Given the description of an element on the screen output the (x, y) to click on. 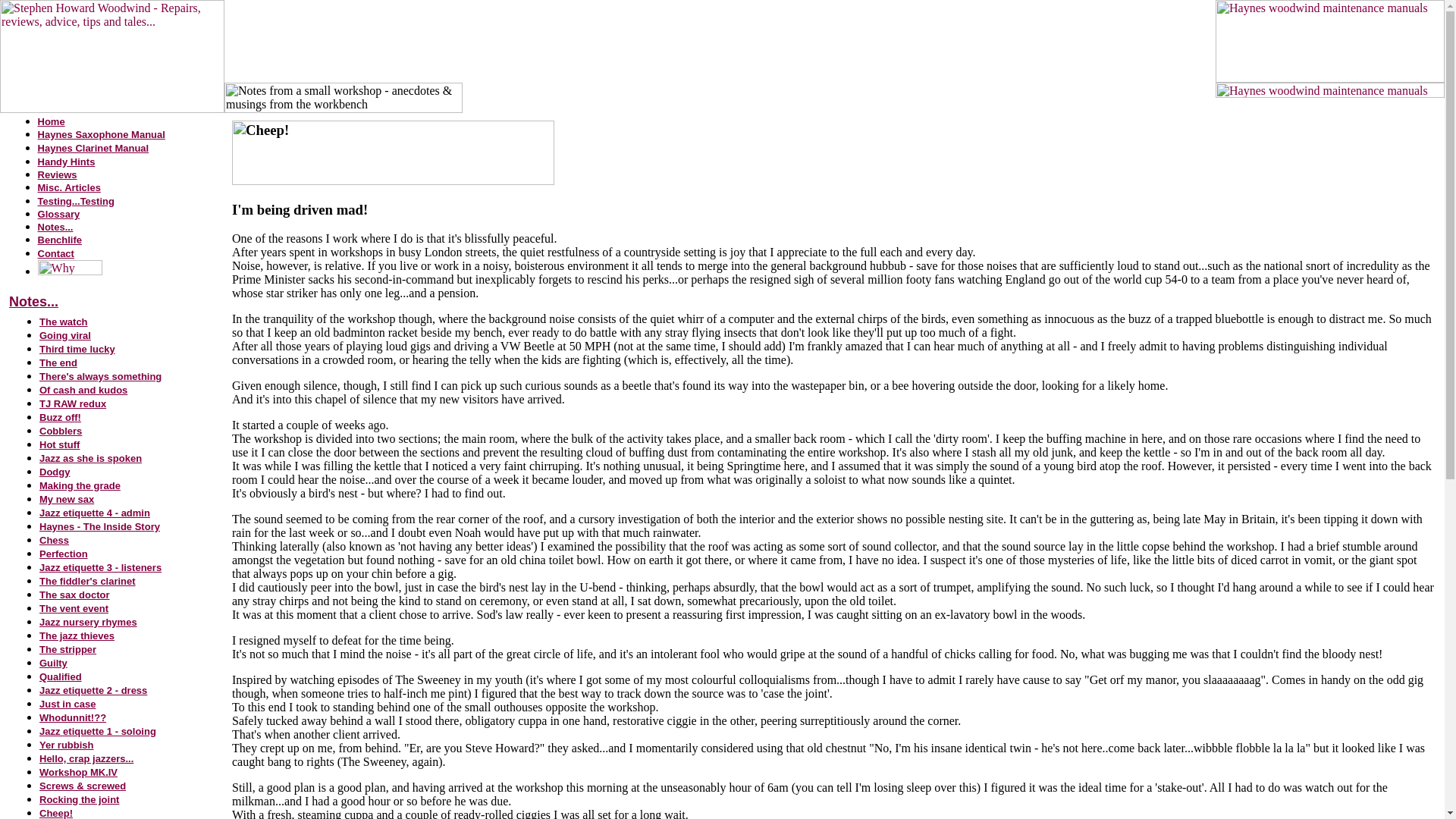
Testing...Testing (76, 200)
TJ RAW redux (72, 402)
Of cash and kudos (83, 389)
Jazz nursery rhymes (87, 621)
My new sax (66, 498)
Handy Hints (66, 160)
Benchlife (59, 238)
Cobblers (60, 430)
Hot stuff (59, 443)
Jazz etiquette 3 - listeners (100, 566)
Chess (53, 539)
The end (58, 361)
Haynes Clarinet Manual (93, 146)
Glossary (58, 213)
The fiddler's clarinet (87, 580)
